Given the description of an element on the screen output the (x, y) to click on. 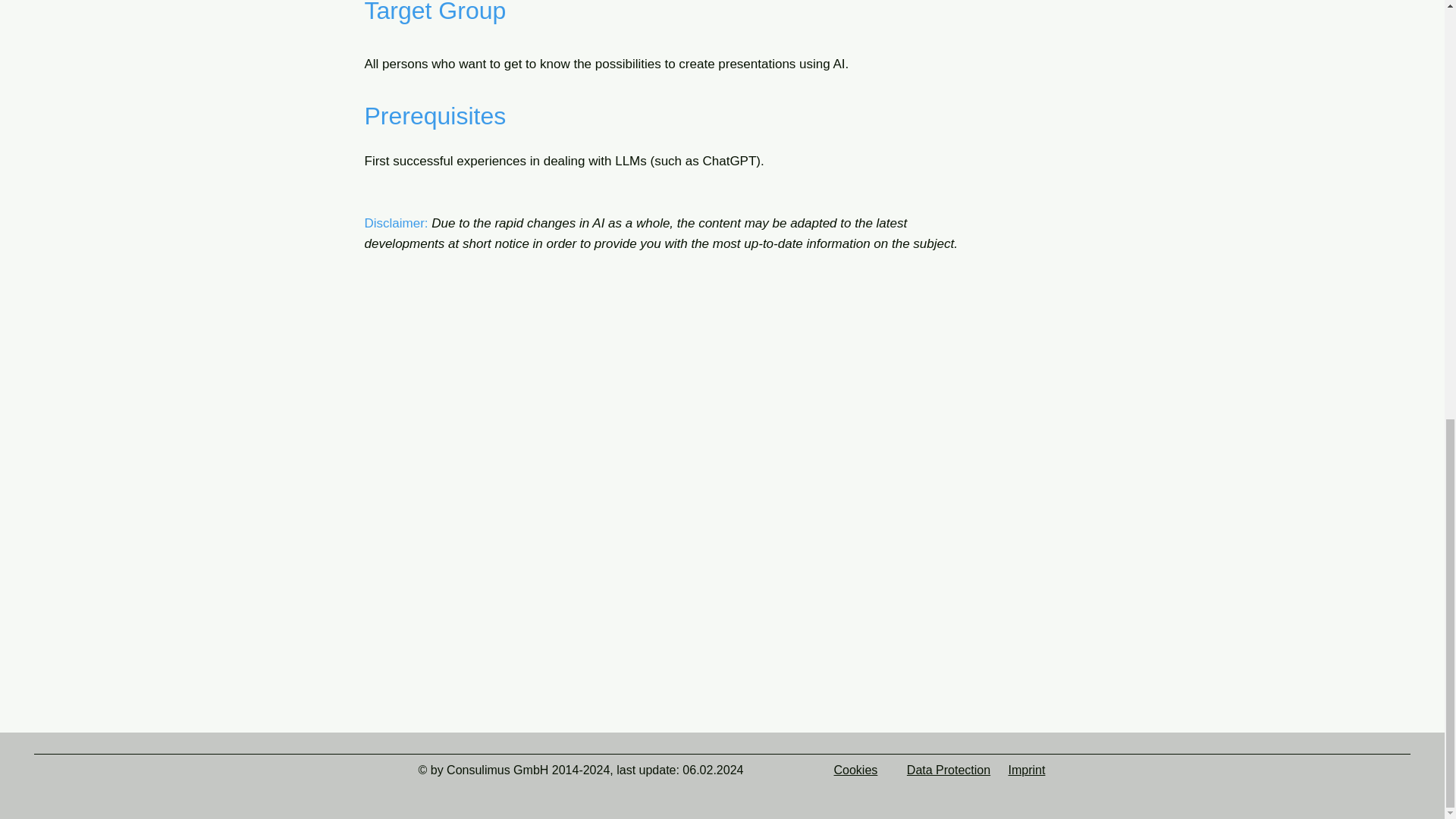
Data Protection (948, 769)
Cookies (855, 769)
Imprint (1027, 769)
